Given the description of an element on the screen output the (x, y) to click on. 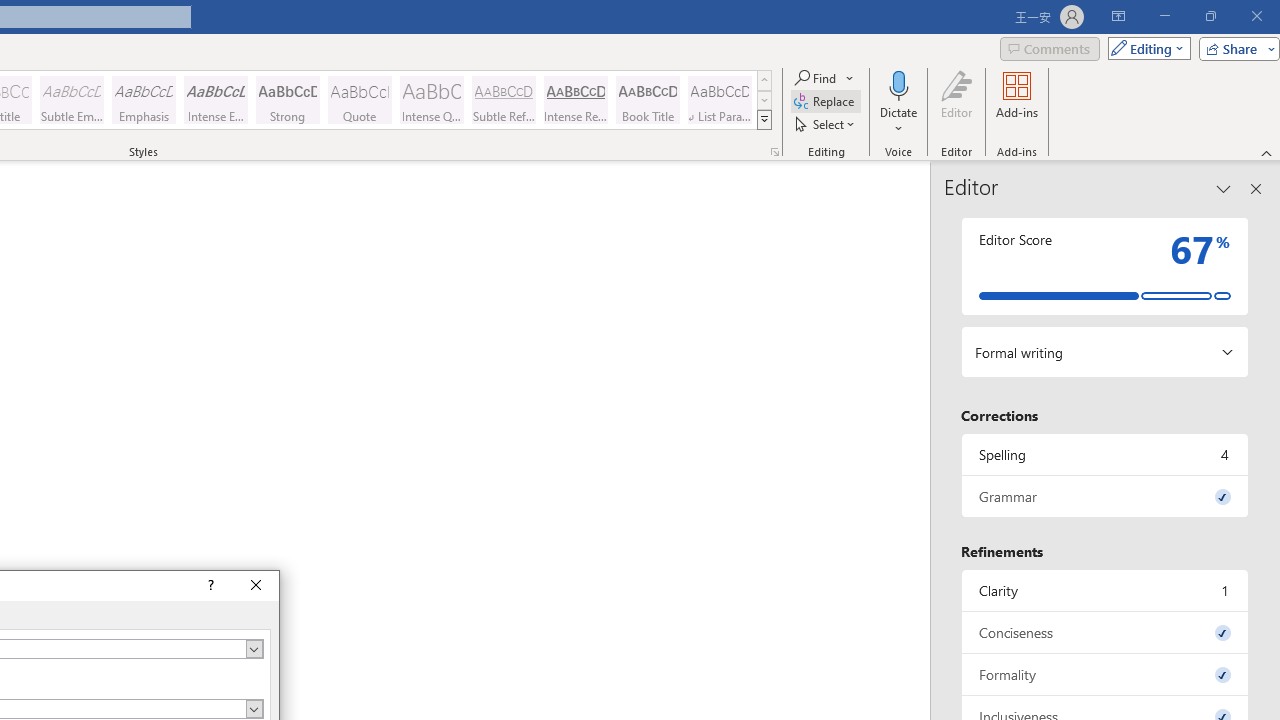
Conciseness, 0 issues. Press space or enter to review items. (1105, 632)
Intense Emphasis (216, 100)
Intense Quote (431, 100)
Editor Score 67% (1105, 266)
Grammar, 0 issues. Press space or enter to review items. (1105, 495)
Strong (287, 100)
